Given the description of an element on the screen output the (x, y) to click on. 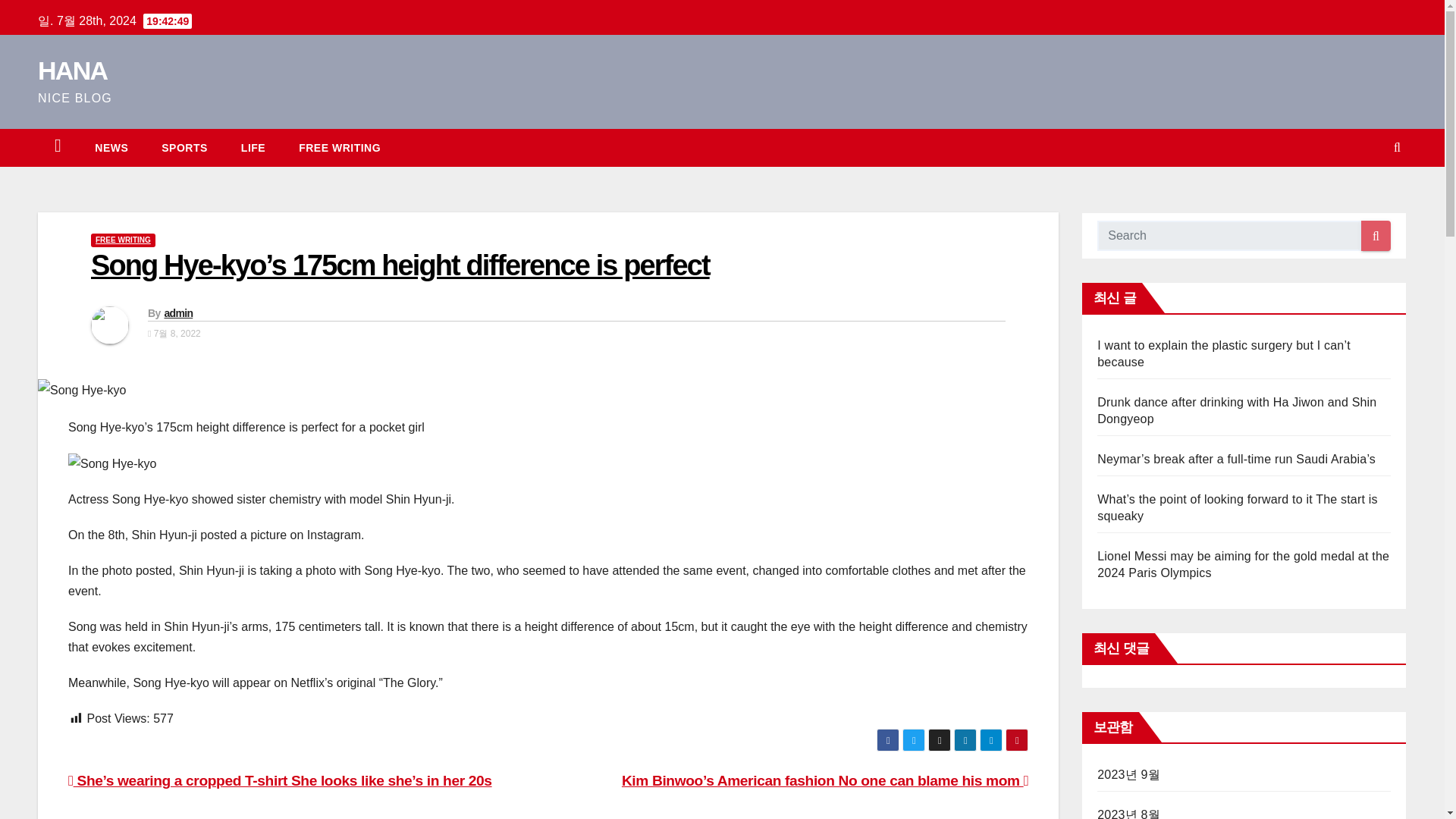
SPORTS (184, 147)
HANA (71, 70)
NEWS (111, 147)
